Given the description of an element on the screen output the (x, y) to click on. 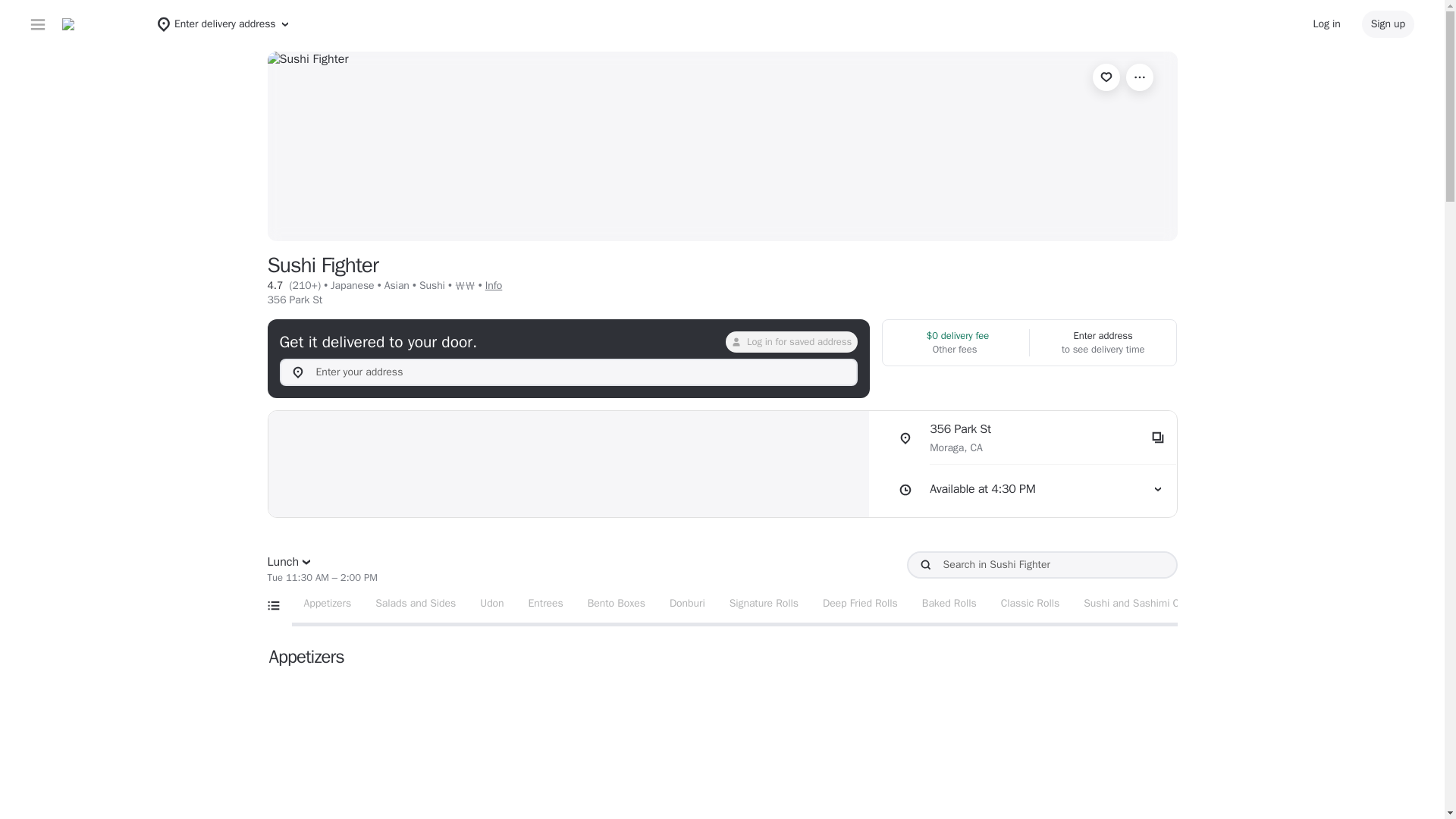
Salads and Sides (414, 603)
Donburi (687, 603)
Signature Rolls (763, 603)
Classic Rolls (1029, 603)
Info (493, 285)
Available at 4:30 PM (1028, 489)
Entrees (545, 603)
Log in for saved address (1028, 438)
Udon (791, 341)
